Given the description of an element on the screen output the (x, y) to click on. 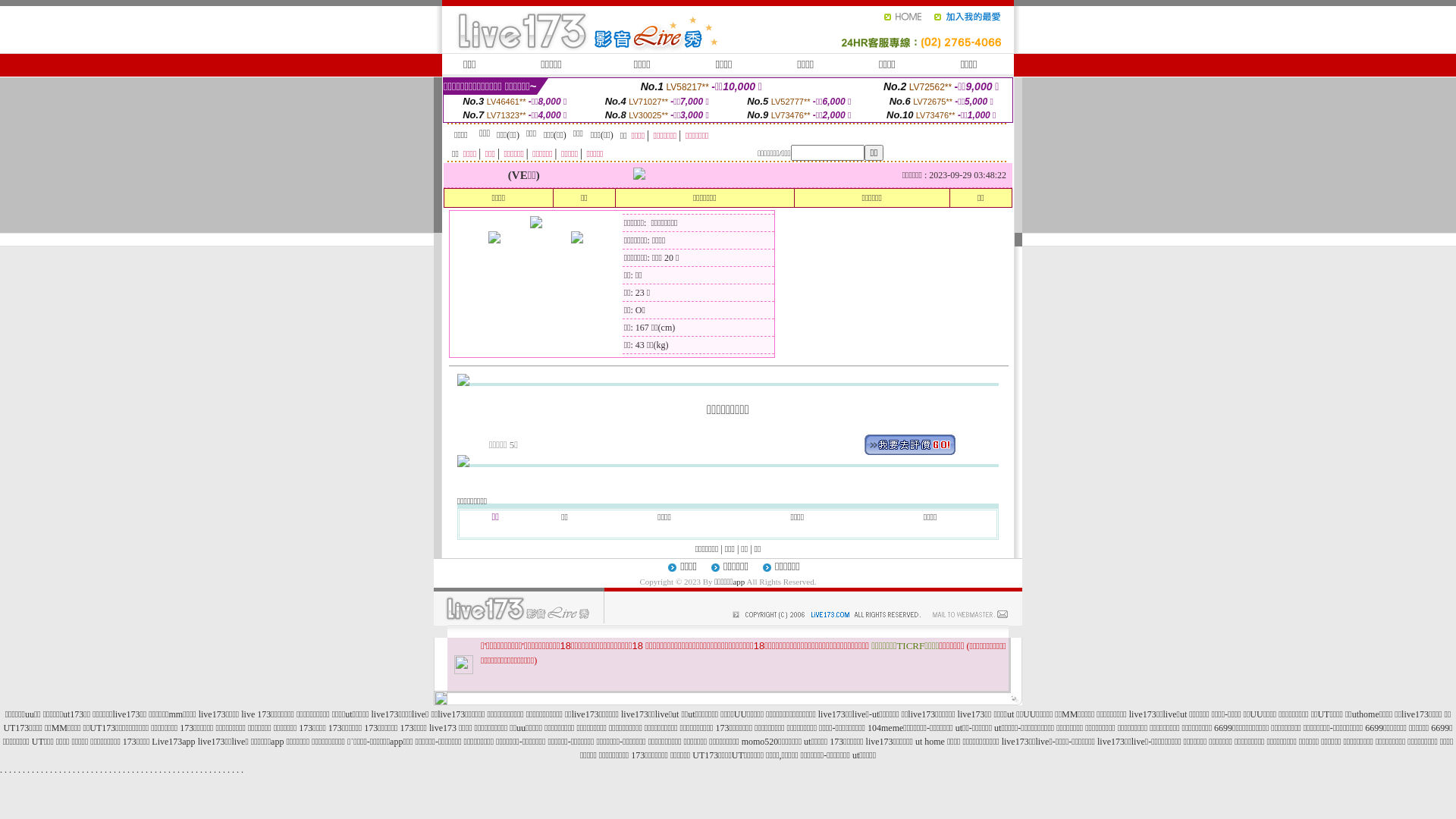
. Element type: text (1, 769)
. Element type: text (160, 769)
. Element type: text (151, 769)
. Element type: text (41, 769)
. Element type: text (137, 769)
. Element type: text (123, 769)
. Element type: text (178, 769)
. Element type: text (233, 769)
. Element type: text (73, 769)
. Element type: text (119, 769)
. Element type: text (132, 769)
. Element type: text (164, 769)
. Element type: text (242, 769)
. Element type: text (60, 769)
. Element type: text (92, 769)
. Element type: text (51, 769)
. Element type: text (82, 769)
. Element type: text (155, 769)
. Element type: text (219, 769)
. Element type: text (210, 769)
. Element type: text (128, 769)
. Element type: text (46, 769)
. Element type: text (14, 769)
. Element type: text (173, 769)
. Element type: text (96, 769)
. Element type: text (205, 769)
. Element type: text (87, 769)
. Element type: text (142, 769)
. Element type: text (192, 769)
. Element type: text (183, 769)
. Element type: text (105, 769)
. Element type: text (10, 769)
. Element type: text (23, 769)
. Element type: text (37, 769)
. Element type: text (55, 769)
. Element type: text (223, 769)
. Element type: text (19, 769)
. Element type: text (110, 769)
. Element type: text (64, 769)
. Element type: text (114, 769)
. Element type: text (169, 769)
. Element type: text (78, 769)
. Element type: text (28, 769)
. Element type: text (237, 769)
. Element type: text (32, 769)
. Element type: text (5, 769)
. Element type: text (101, 769)
. Element type: text (214, 769)
. Element type: text (201, 769)
. Element type: text (146, 769)
. Element type: text (187, 769)
. Element type: text (69, 769)
Live173app Element type: text (172, 741)
. Element type: text (196, 769)
. Element type: text (228, 769)
